Given the description of an element on the screen output the (x, y) to click on. 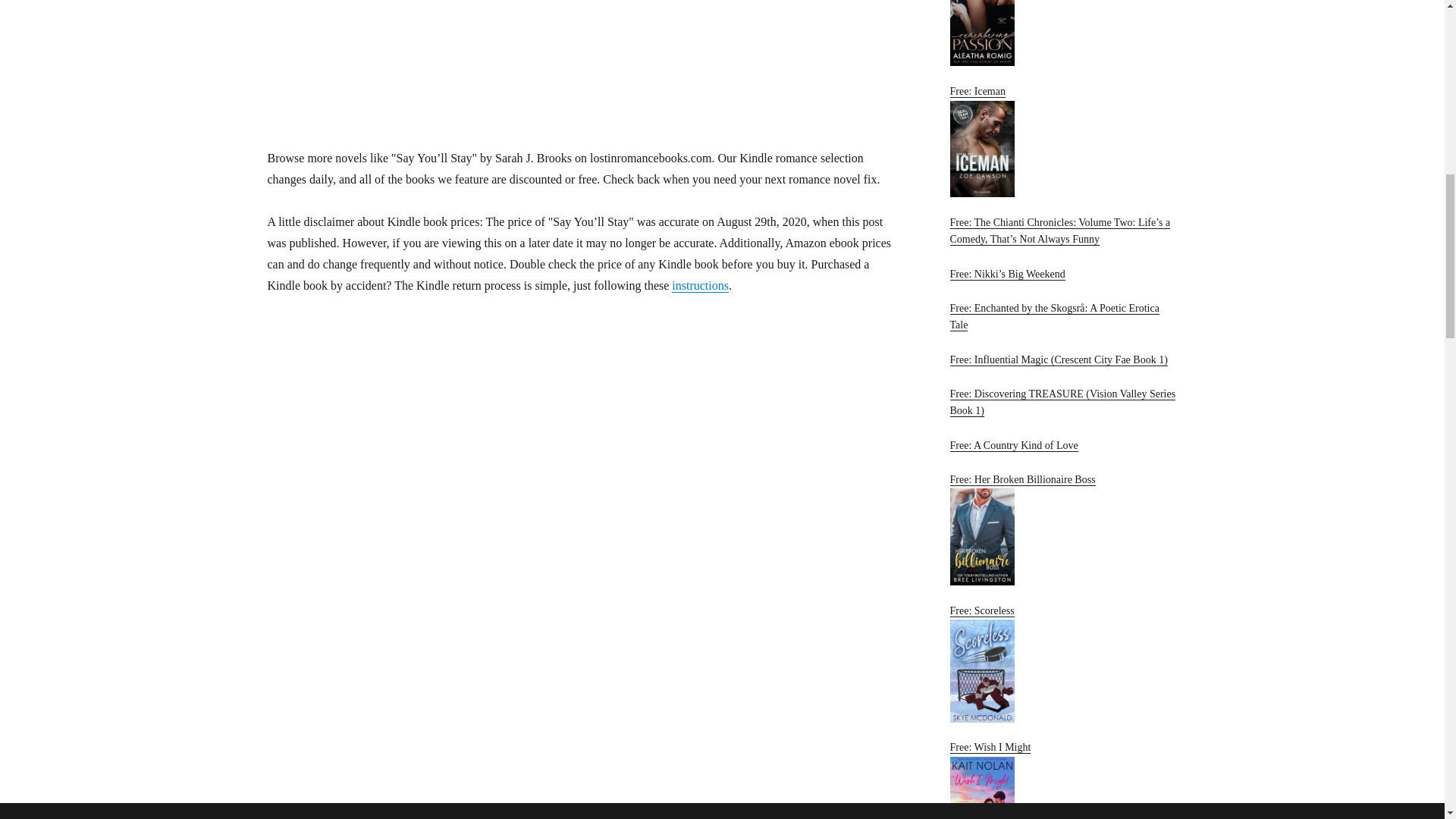
Free: Wish I Might (1062, 780)
instructions (700, 285)
Free: Scoreless (1062, 663)
Free: A Country Kind of Love (1013, 445)
Free: Iceman (1062, 141)
Free: Remembering Passion: Sinclair Duet (1062, 33)
Free: Her Broken Billionaire Boss (1062, 529)
